Given the description of an element on the screen output the (x, y) to click on. 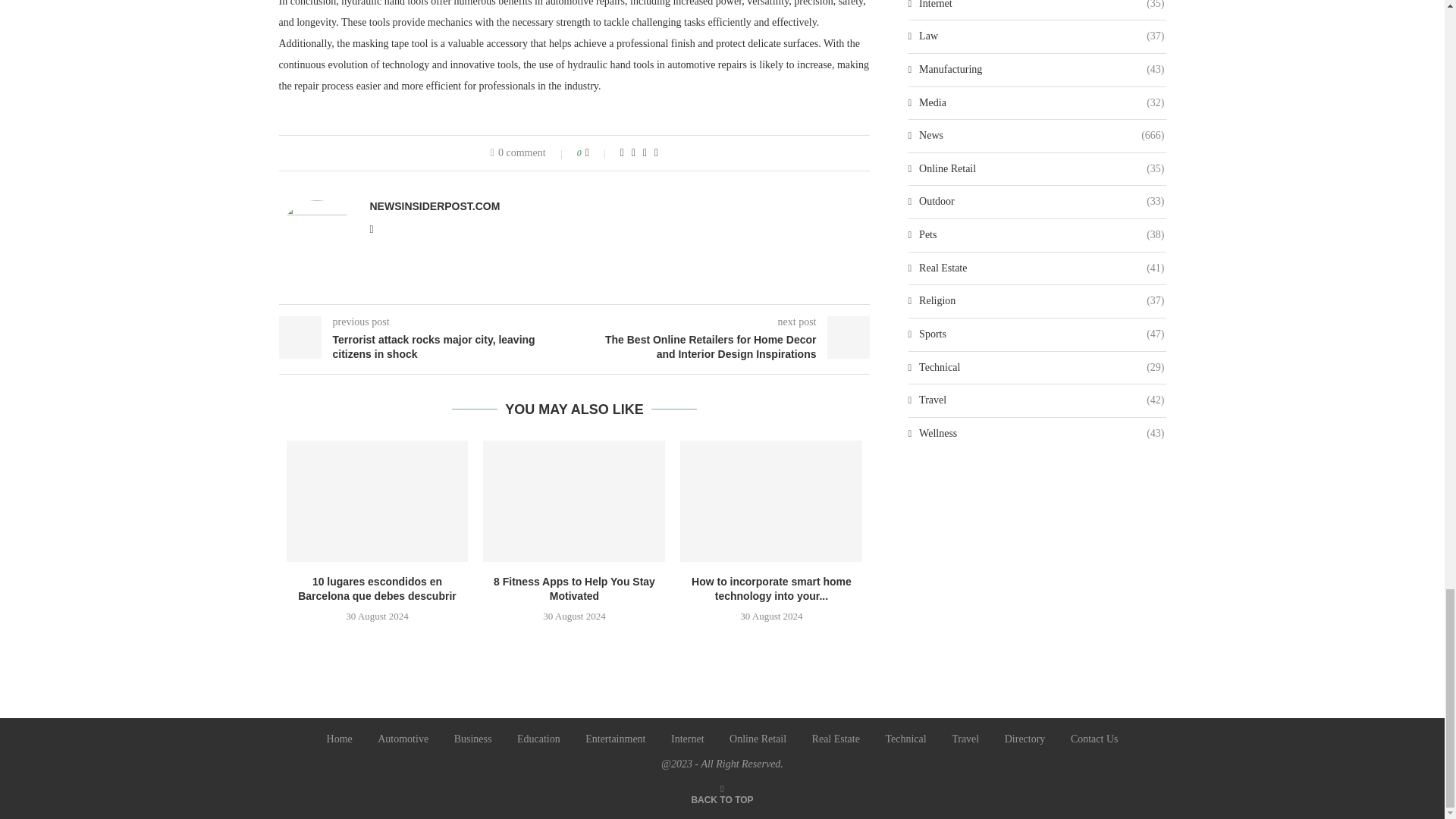
Like (597, 152)
8 Fitness Apps to Help You Stay Motivated (574, 500)
NEWSINSIDERPOST.COM (434, 205)
10 lugares escondidos en Barcelona que debes descubrir (377, 500)
Author newsinsiderpost.com (434, 205)
